Given the description of an element on the screen output the (x, y) to click on. 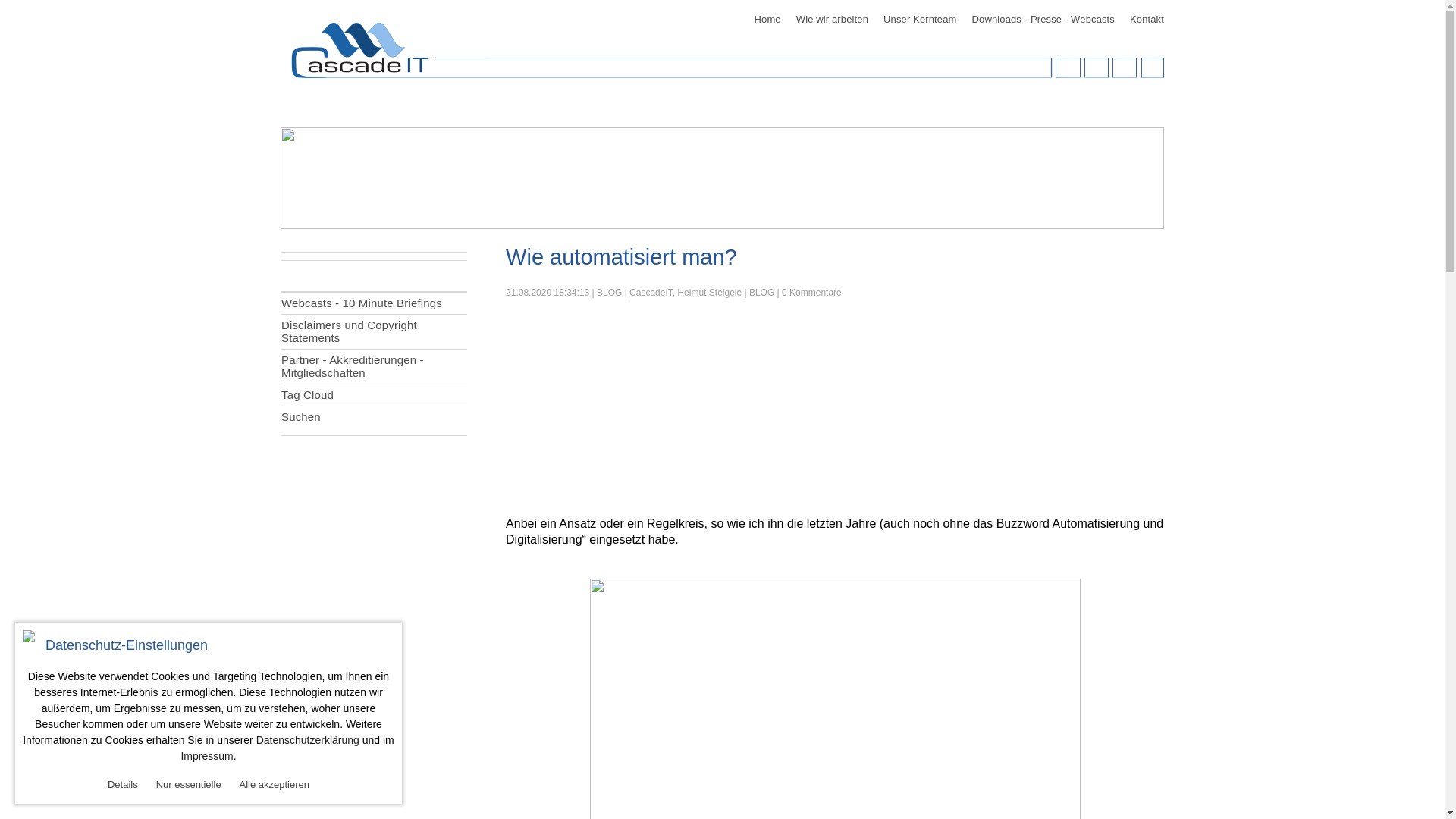
Disclaimers und Copyright Statements Element type: text (374, 330)
Suchen Element type: text (374, 416)
Wie wir arbeiten Element type: text (832, 19)
Home Element type: text (767, 19)
Details Element type: text (122, 783)
Unser Kernteam Element type: text (919, 19)
Impressum Element type: text (206, 755)
Alle akzeptieren Element type: text (274, 783)
Nur essentielle Element type: text (188, 783)
Kontakt Element type: text (1146, 19)
Downloads - Presse - Webcasts Element type: text (1043, 19)
Webcasts - 10 Minute Briefings Element type: text (374, 302)
Tag Cloud Element type: text (374, 394)
Partner - Akkreditierungen - Mitgliedschaften Element type: text (374, 365)
